Given the description of an element on the screen output the (x, y) to click on. 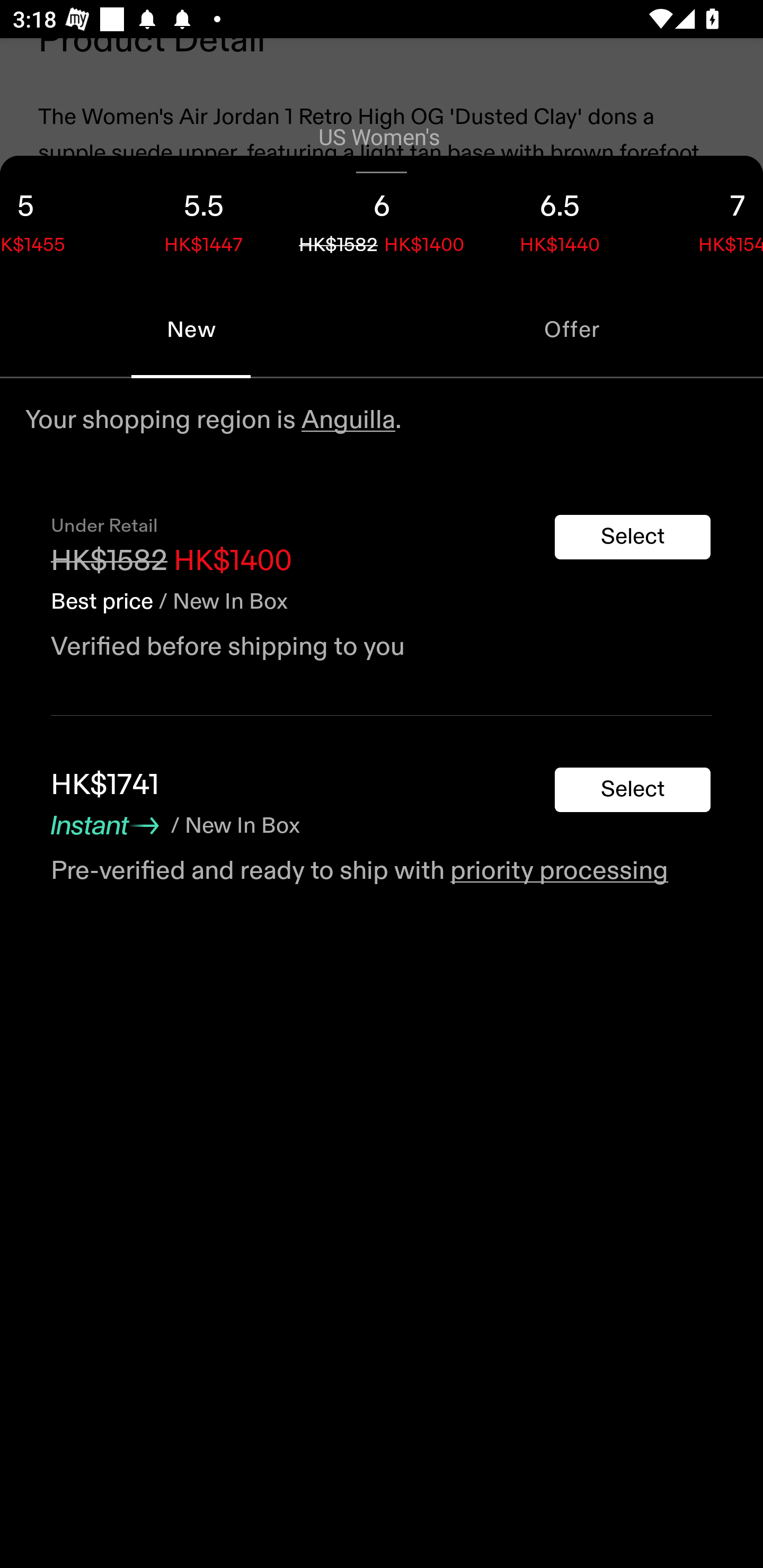
5 HK$1455 (57, 218)
5.5 HK$1447 (203, 218)
6 HK$1582 HK$1400 (381, 218)
6.5 HK$1440 (559, 218)
7 HK$1542 (705, 218)
Offer (572, 329)
Select (632, 536)
Sell (152, 551)
HK$1741 (104, 785)
Select (632, 789)
